Given the description of an element on the screen output the (x, y) to click on. 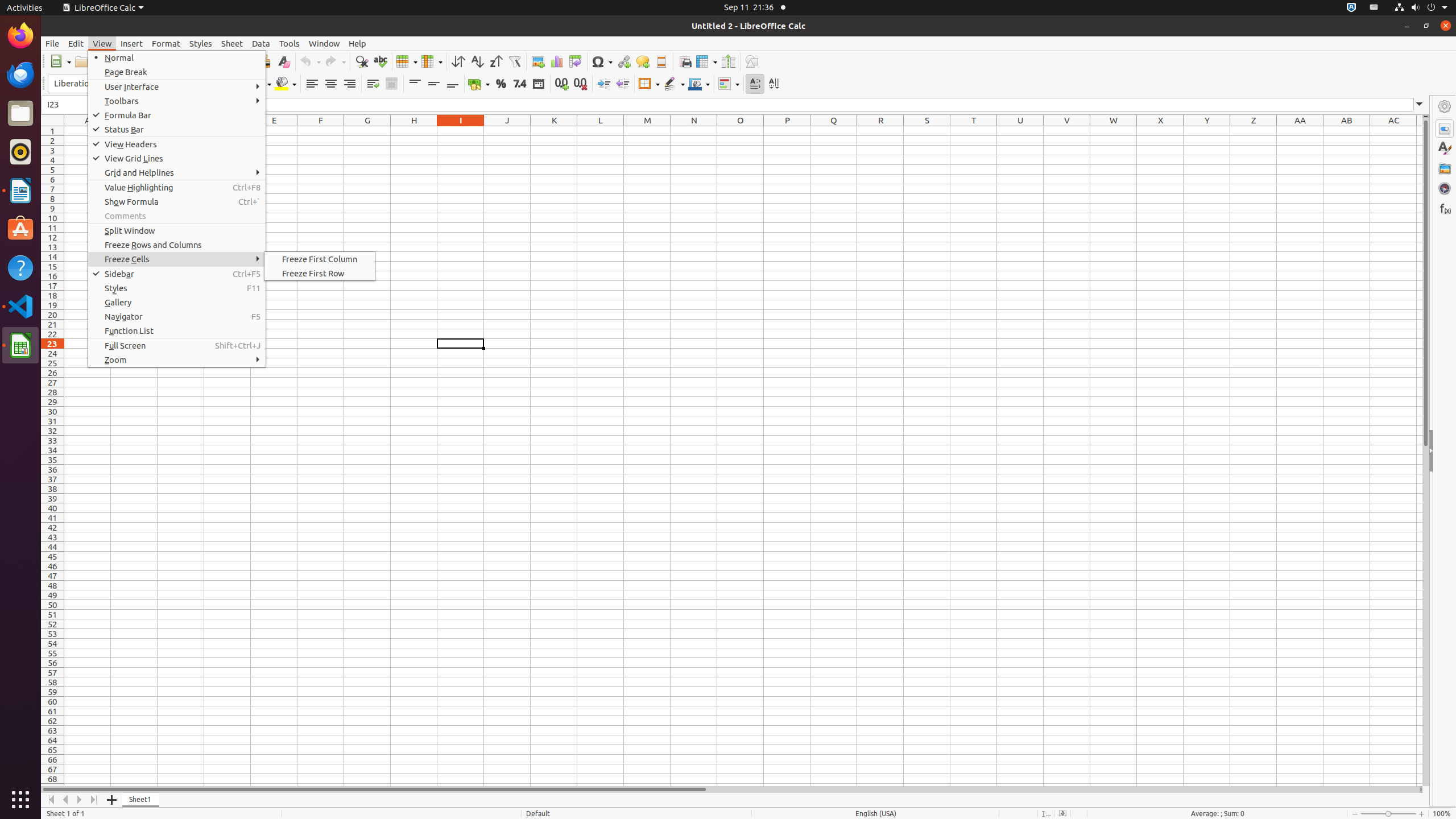
Headers and Footers Element type: push-button (660, 61)
View Element type: menu (102, 43)
Align Top Element type: push-button (414, 83)
Comment Element type: push-button (642, 61)
